Given the description of an element on the screen output the (x, y) to click on. 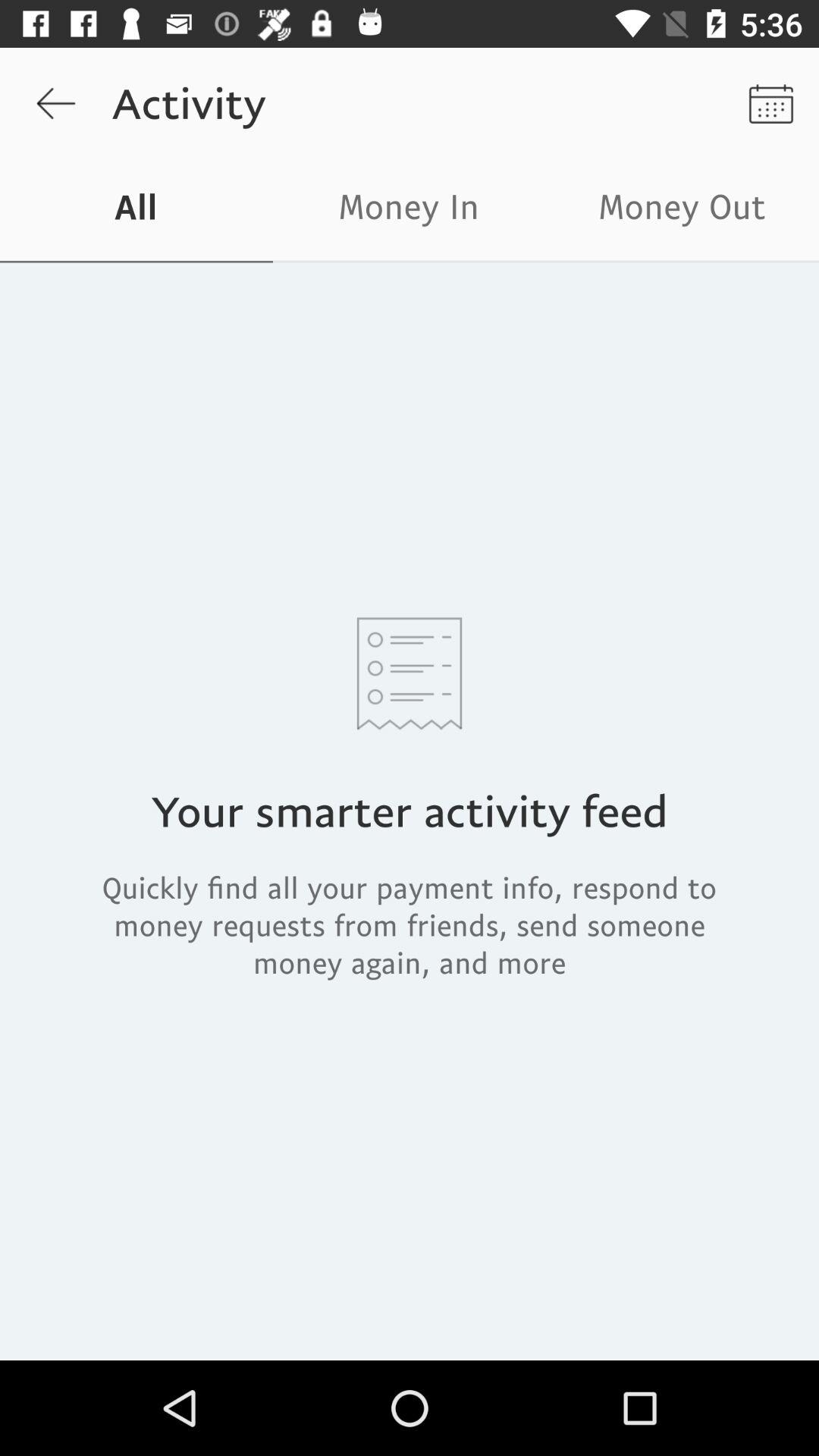
open the icon to the right of the money in item (682, 210)
